Given the description of an element on the screen output the (x, y) to click on. 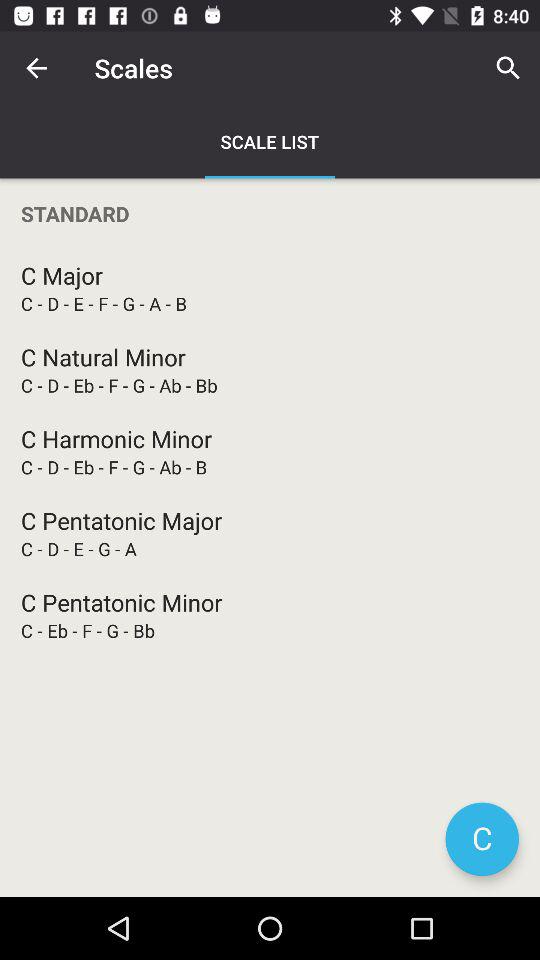
launch the item above c major (270, 213)
